Given the description of an element on the screen output the (x, y) to click on. 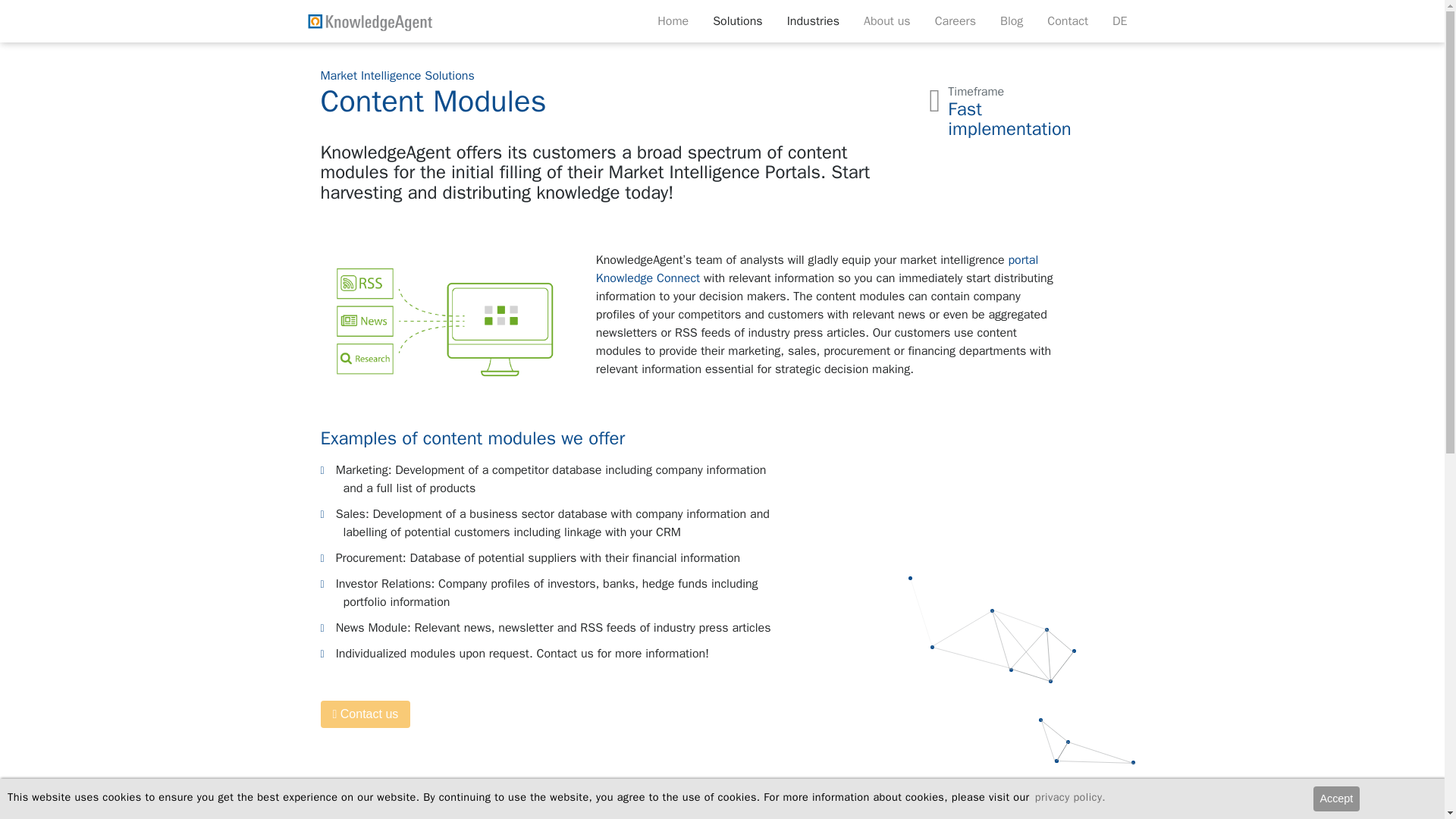
Home (672, 20)
